Given the description of an element on the screen output the (x, y) to click on. 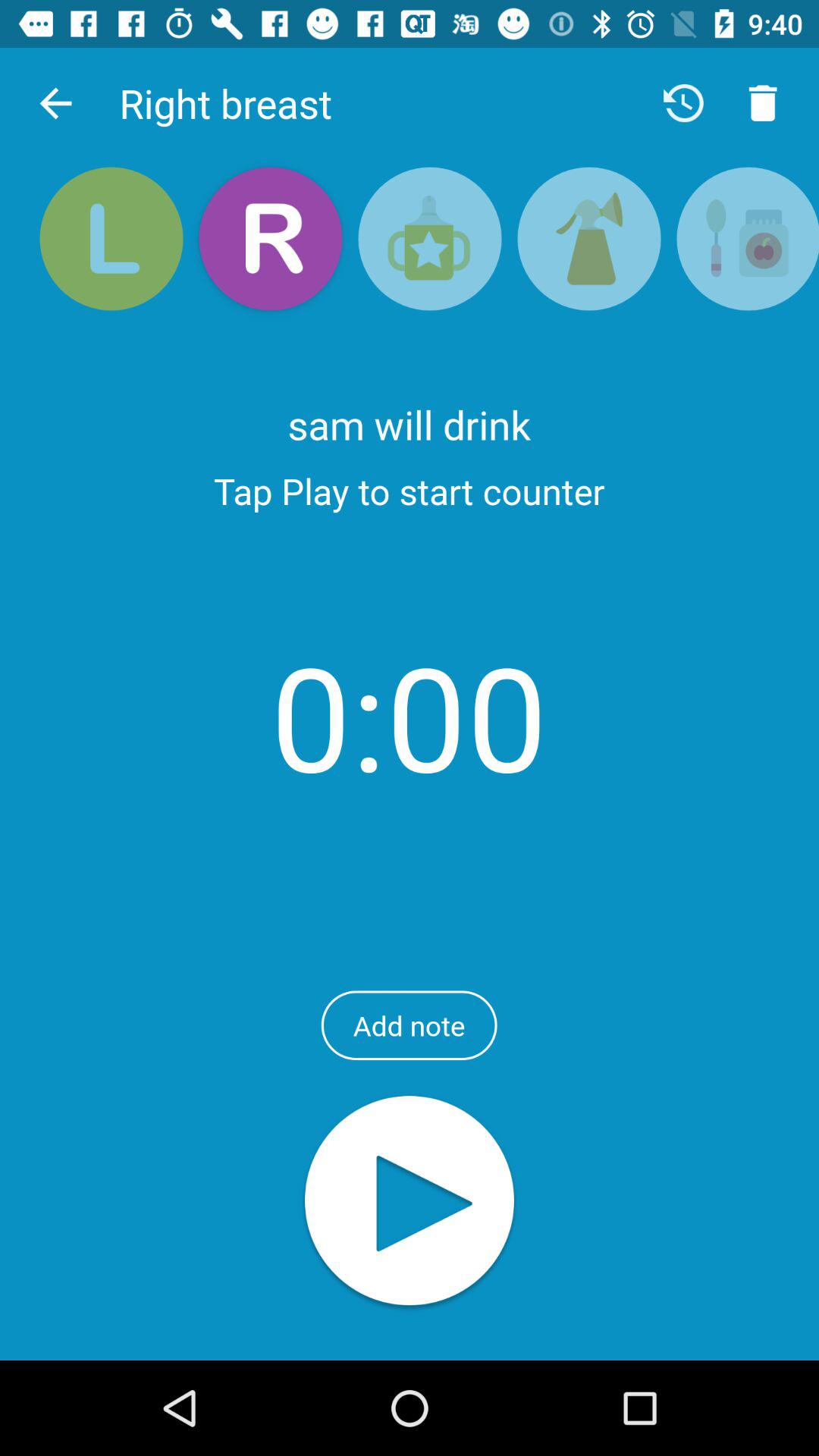
scroll until the 0:00 (408, 715)
